Given the description of an element on the screen output the (x, y) to click on. 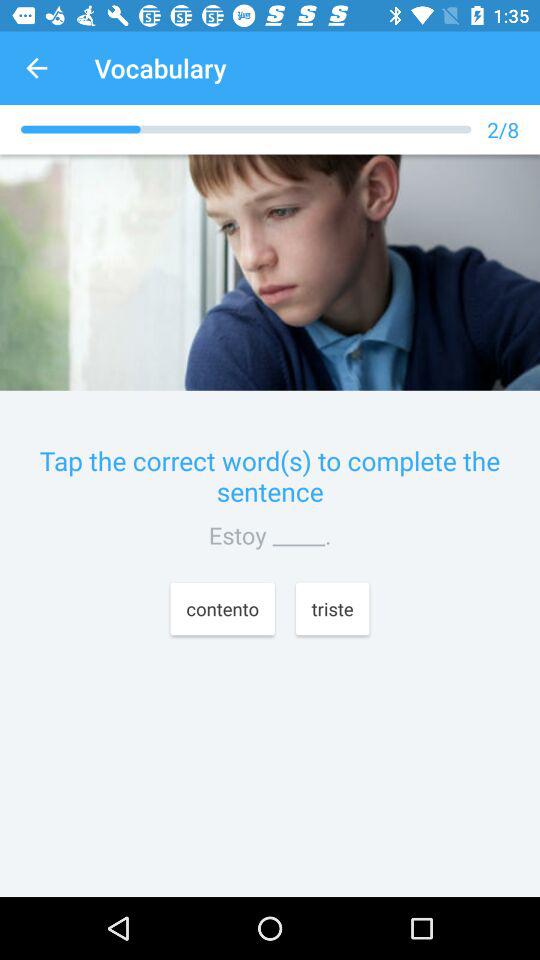
tap item next to the vocabulary icon (36, 68)
